Given the description of an element on the screen output the (x, y) to click on. 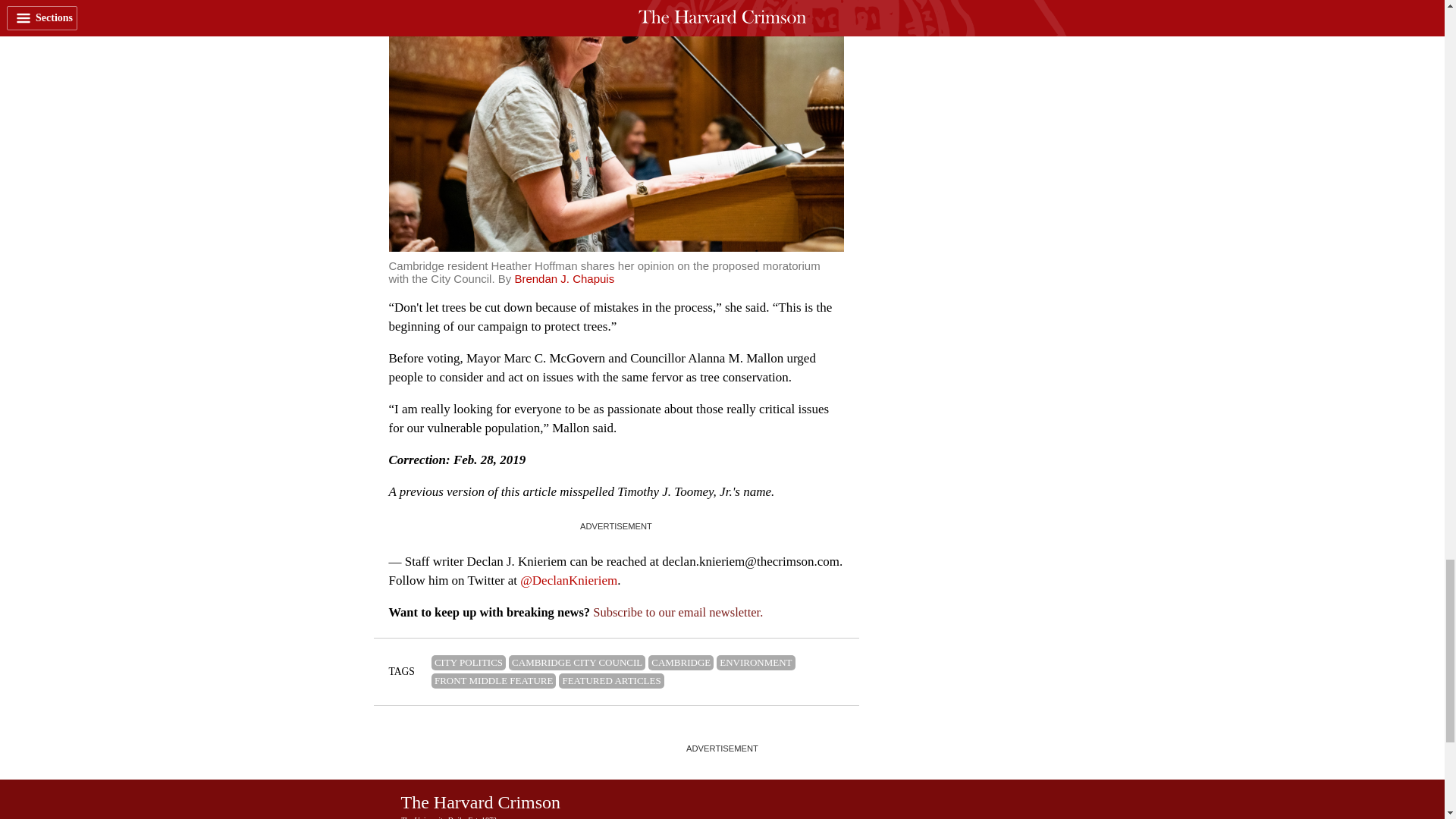
CAMBRIDGE CITY COUNCIL (576, 662)
CITY POLITICS (467, 662)
Subscribe to our email newsletter. (677, 612)
CAMBRIDGE (680, 662)
Brendan J. Chapuis (563, 278)
